Given the description of an element on the screen output the (x, y) to click on. 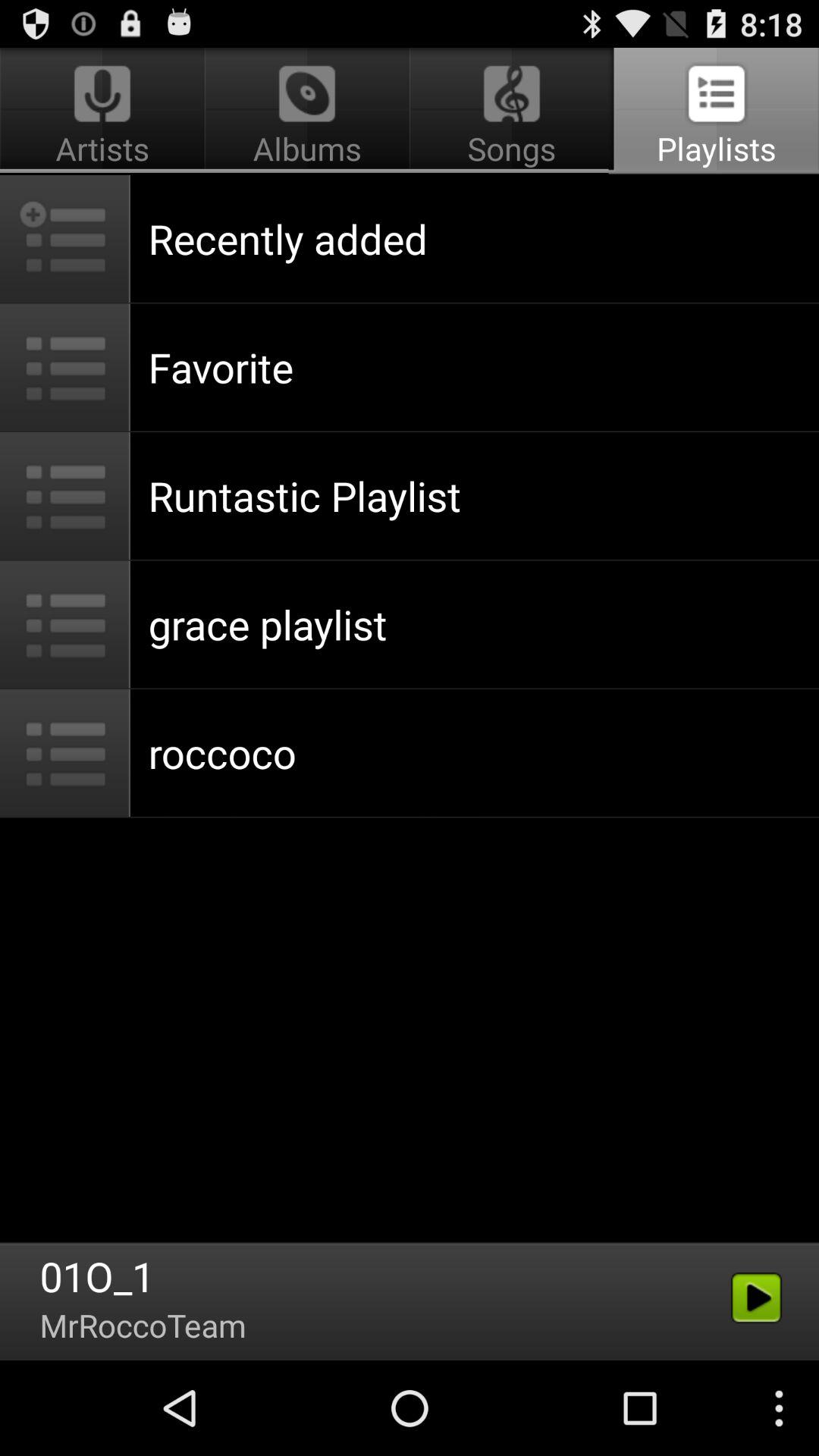
open the songs app (511, 111)
